Given the description of an element on the screen output the (x, y) to click on. 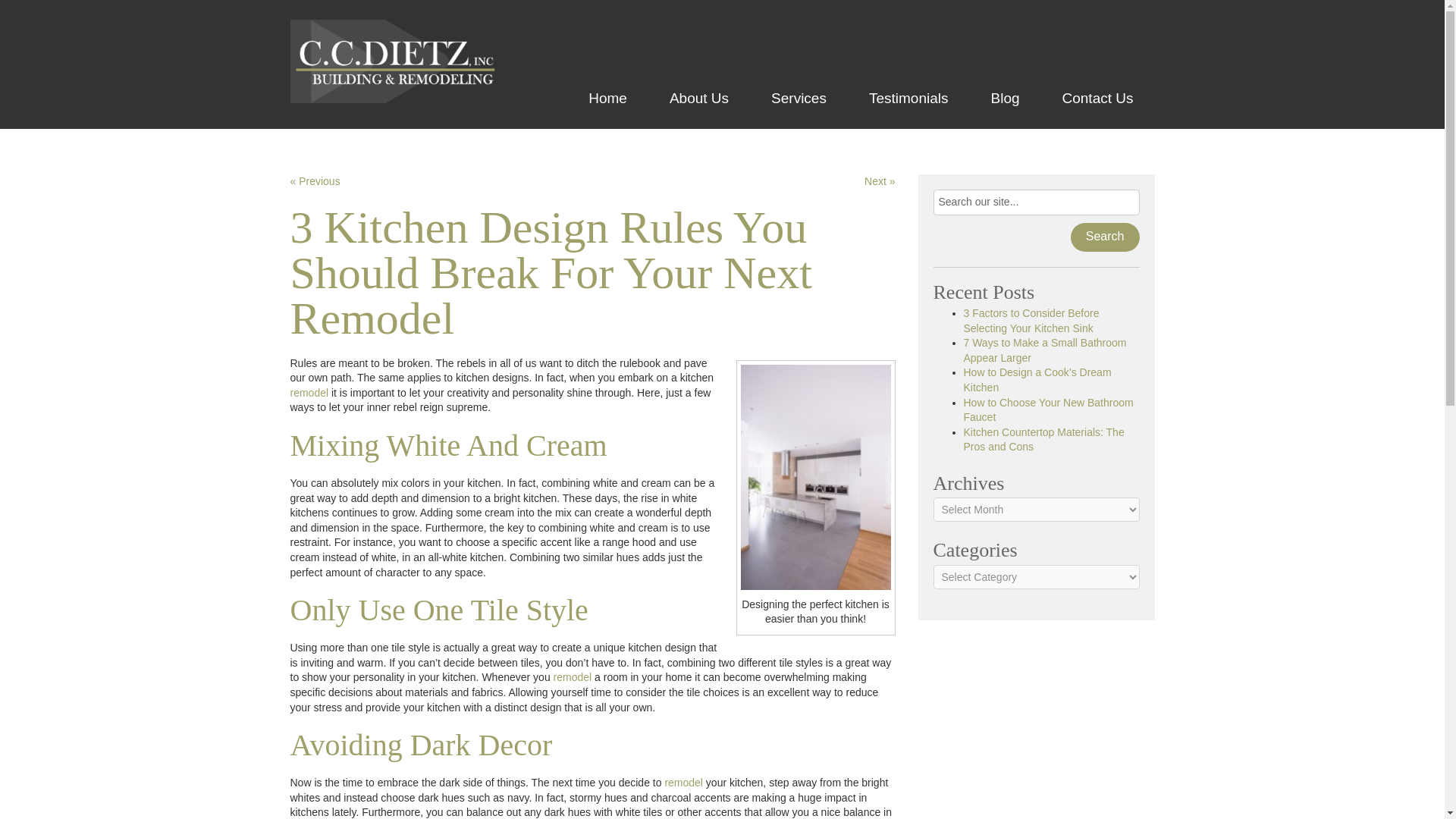
How to Choose Your New Bathroom Faucet (1047, 410)
remodel (683, 782)
Services (798, 97)
3 Factors to Consider Before Selecting Your Kitchen Sink (1030, 320)
Kitchen Countertop Materials: The Pros and Cons (1043, 439)
About Us (698, 97)
remodel (309, 392)
Home (607, 97)
Testimonials (908, 97)
7 Ways to Make a Small Bathroom Appear Larger (1043, 349)
Contact Us (1097, 97)
remodel (572, 676)
Search our site... (1035, 202)
Blog (1005, 97)
Search (1105, 236)
